Given the description of an element on the screen output the (x, y) to click on. 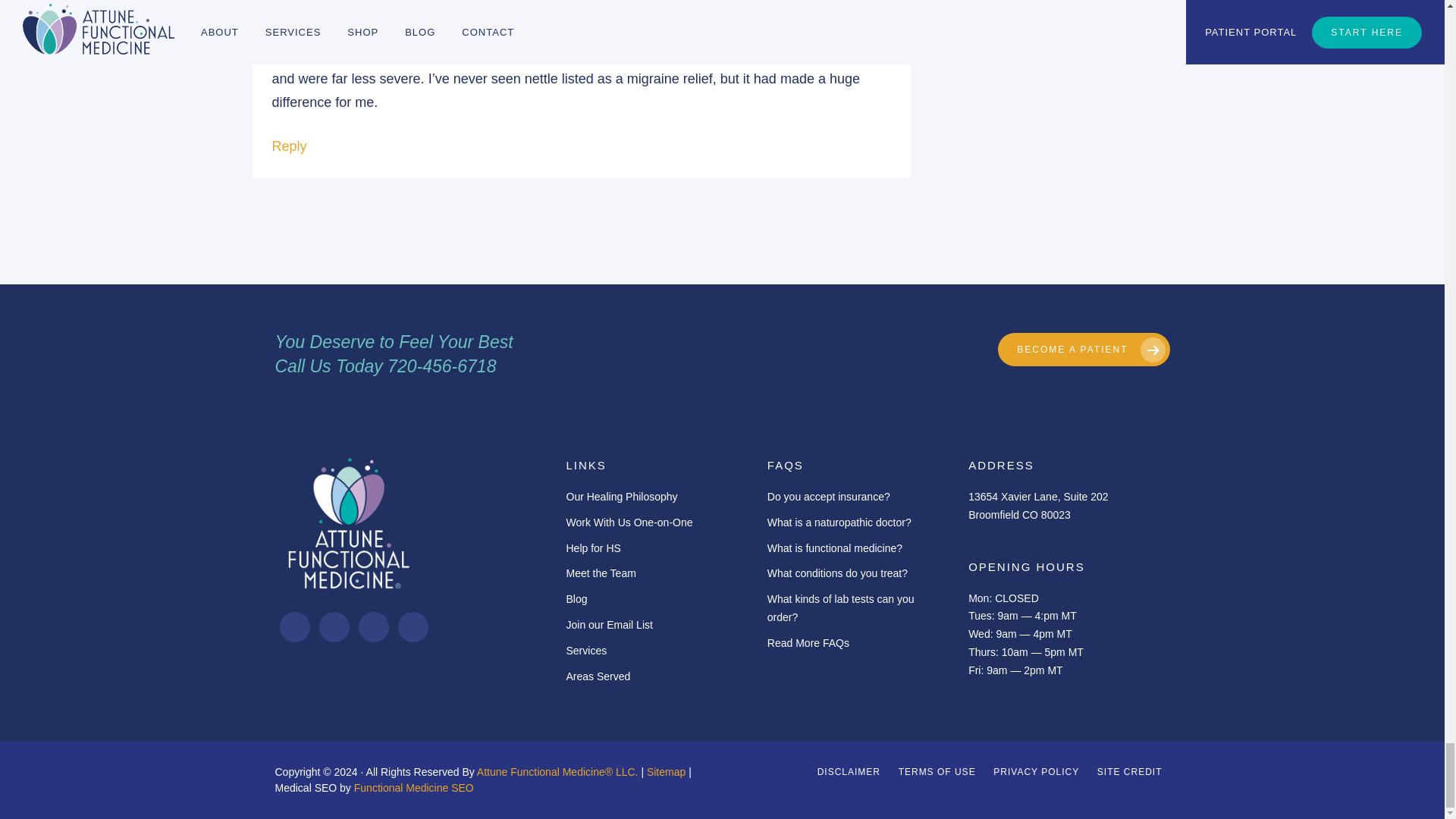
Instagram (333, 626)
Pinterest (372, 626)
YouTube (412, 626)
Facebook (293, 626)
